Given the description of an element on the screen output the (x, y) to click on. 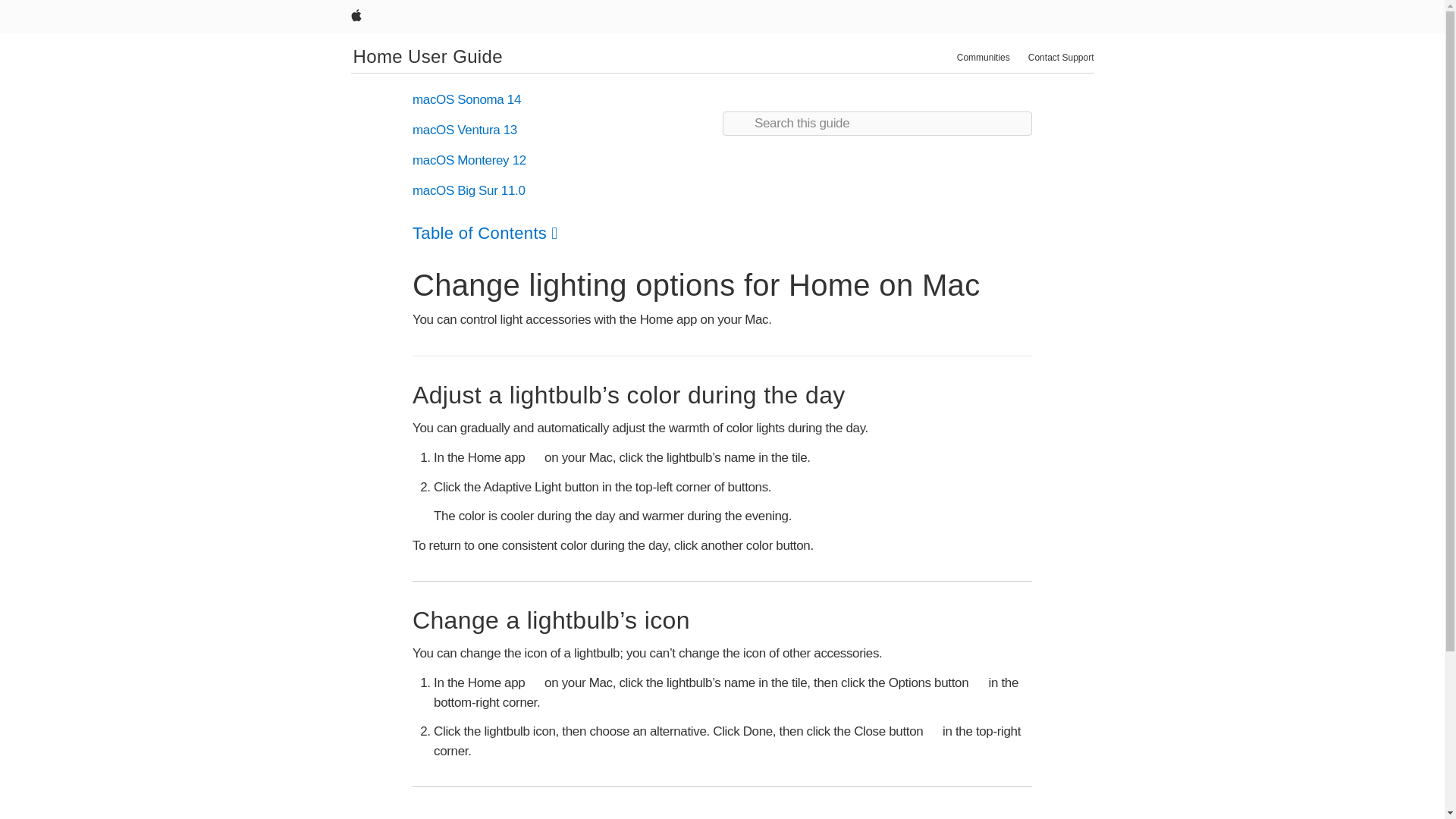
macOS Ventura 13 (464, 129)
macOS Big Sur 11.0 (468, 190)
Communities (983, 57)
Contact Support (1060, 57)
macOS Monterey 12 (468, 160)
macOS Sonoma 14 (466, 99)
Home User Guide (427, 55)
Table of Contents (484, 232)
